Given the description of an element on the screen output the (x, y) to click on. 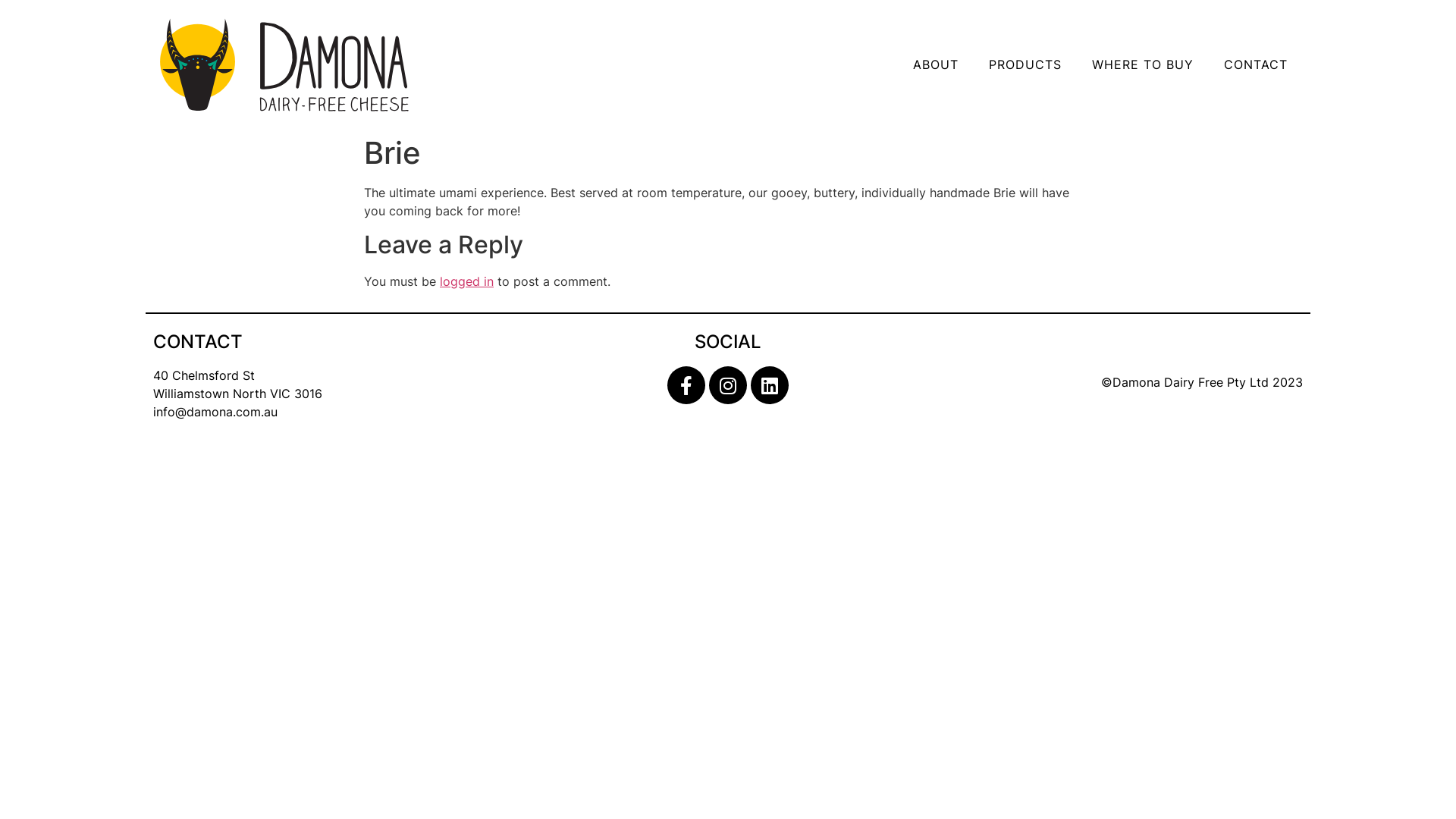
CONTACT Element type: text (1255, 64)
WHERE TO BUY Element type: text (1142, 64)
logged in Element type: text (466, 280)
info@damona.com.au Element type: text (215, 411)
PRODUCTS Element type: text (1024, 64)
ABOUT Element type: text (935, 64)
